Given the description of an element on the screen output the (x, y) to click on. 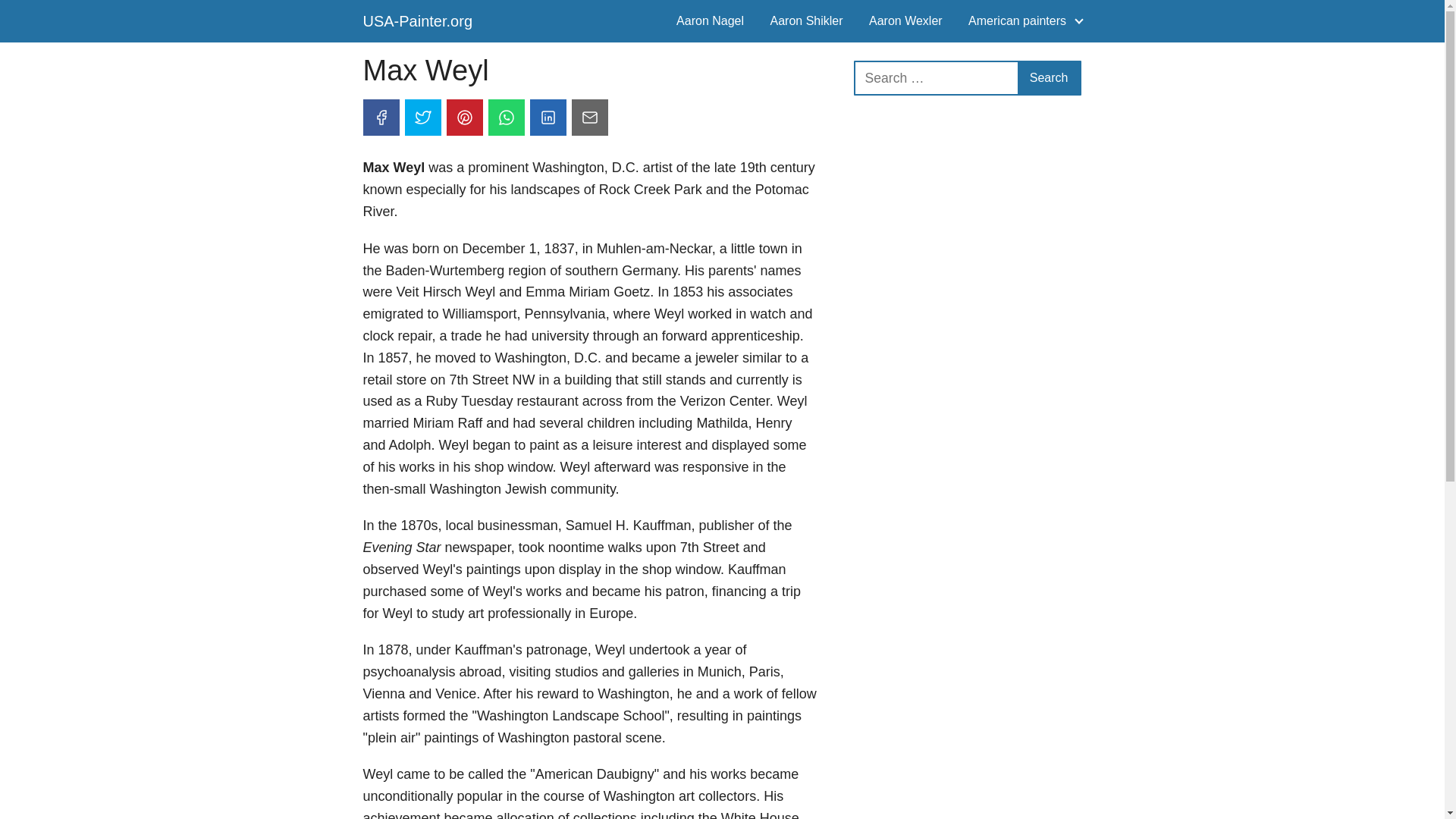
Search (1048, 78)
Search (1048, 78)
USA-Painter.org (416, 21)
Aaron Nagel (710, 20)
American painters (1019, 20)
Aaron Wexler (905, 20)
Search (1048, 78)
Aaron Shikler (806, 20)
